Given the description of an element on the screen output the (x, y) to click on. 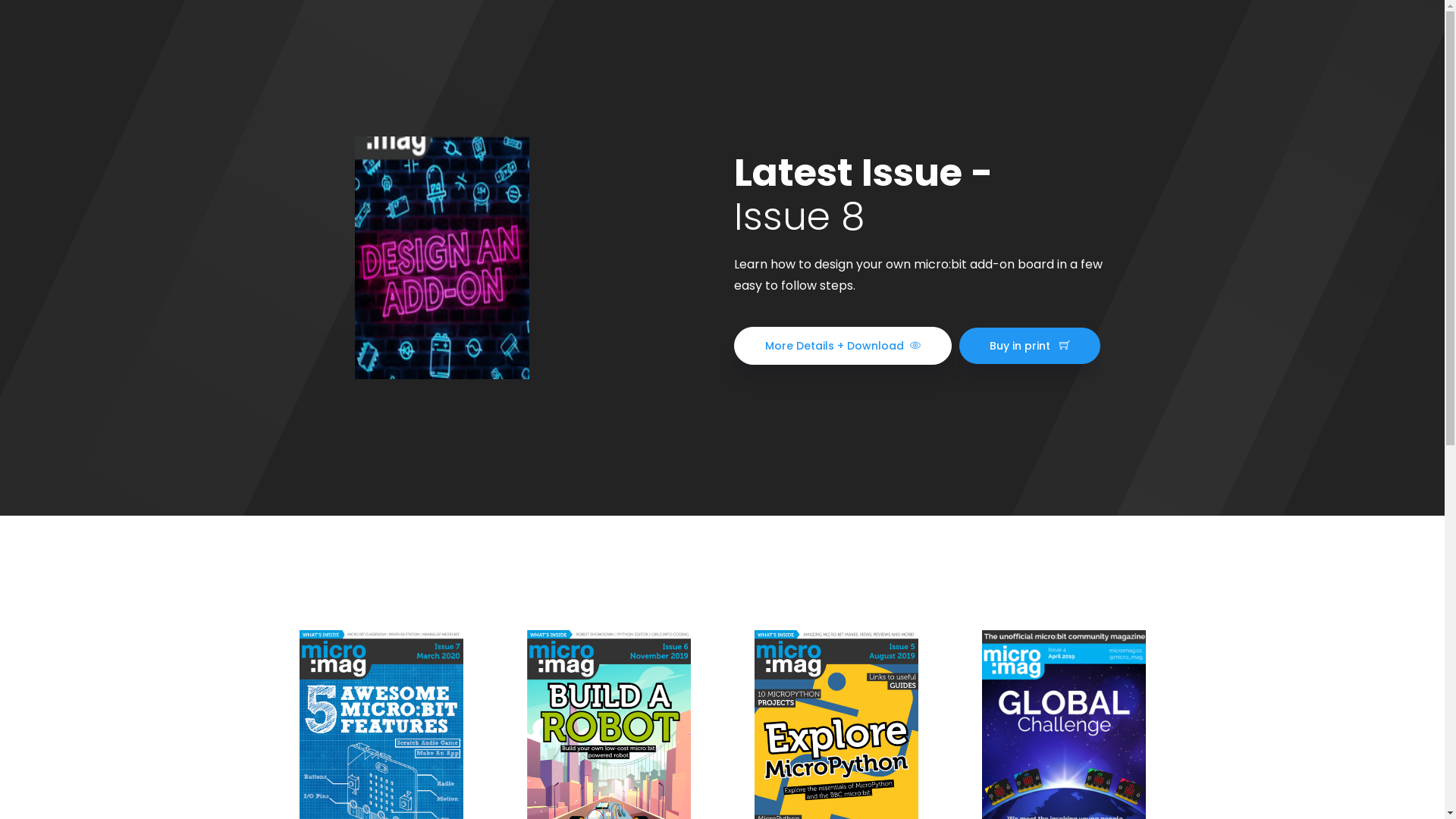
More Details + Download Element type: text (842, 345)
Buy in print Element type: text (1028, 345)
